Given the description of an element on the screen output the (x, y) to click on. 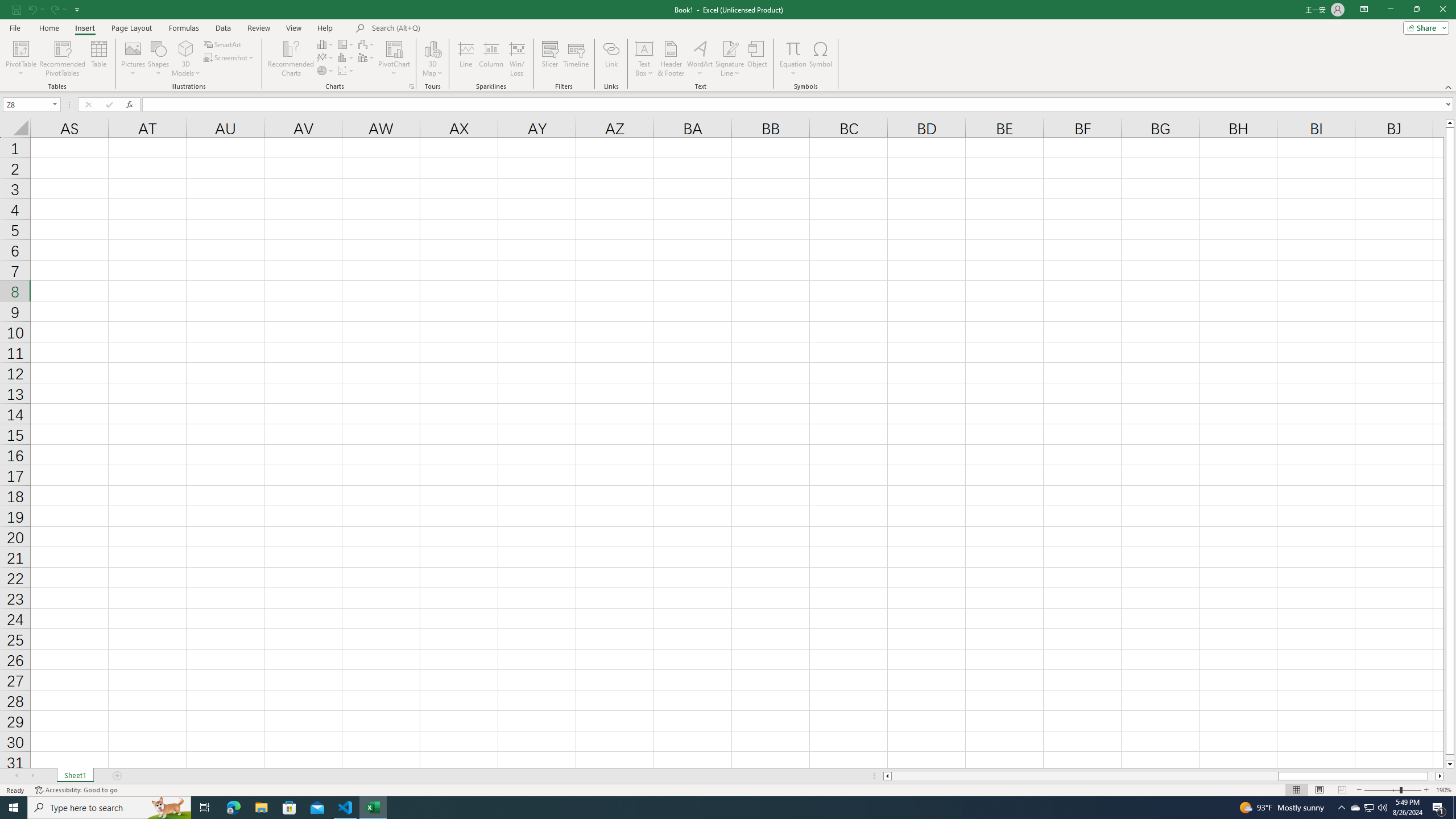
Shapes (158, 58)
Slicer... (550, 58)
Insert Scatter (X, Y) or Bubble Chart (346, 69)
PivotChart (394, 48)
Insert Hierarchy Chart (346, 44)
Object... (757, 58)
PivotTable (20, 58)
Win/Loss (516, 58)
